Given the description of an element on the screen output the (x, y) to click on. 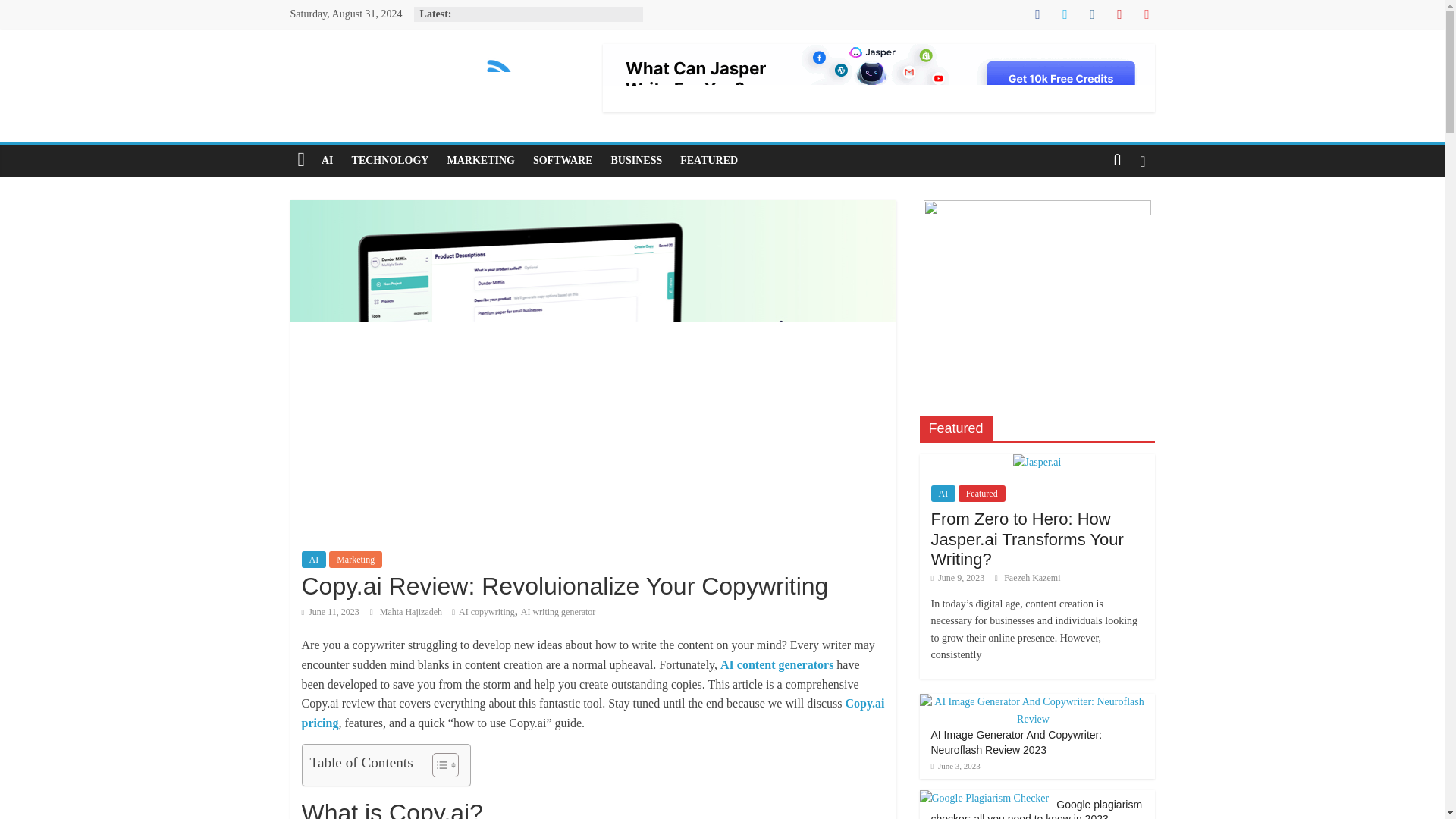
Mahta Hajizadeh (412, 611)
AI (313, 559)
BUSINESS (636, 160)
Copy.ai pricing (593, 712)
17:30 (330, 611)
FEATURED (708, 160)
AI (327, 160)
Marketing (355, 559)
Mahta Hajizadeh (412, 611)
AI content generators (776, 664)
